Given the description of an element on the screen output the (x, y) to click on. 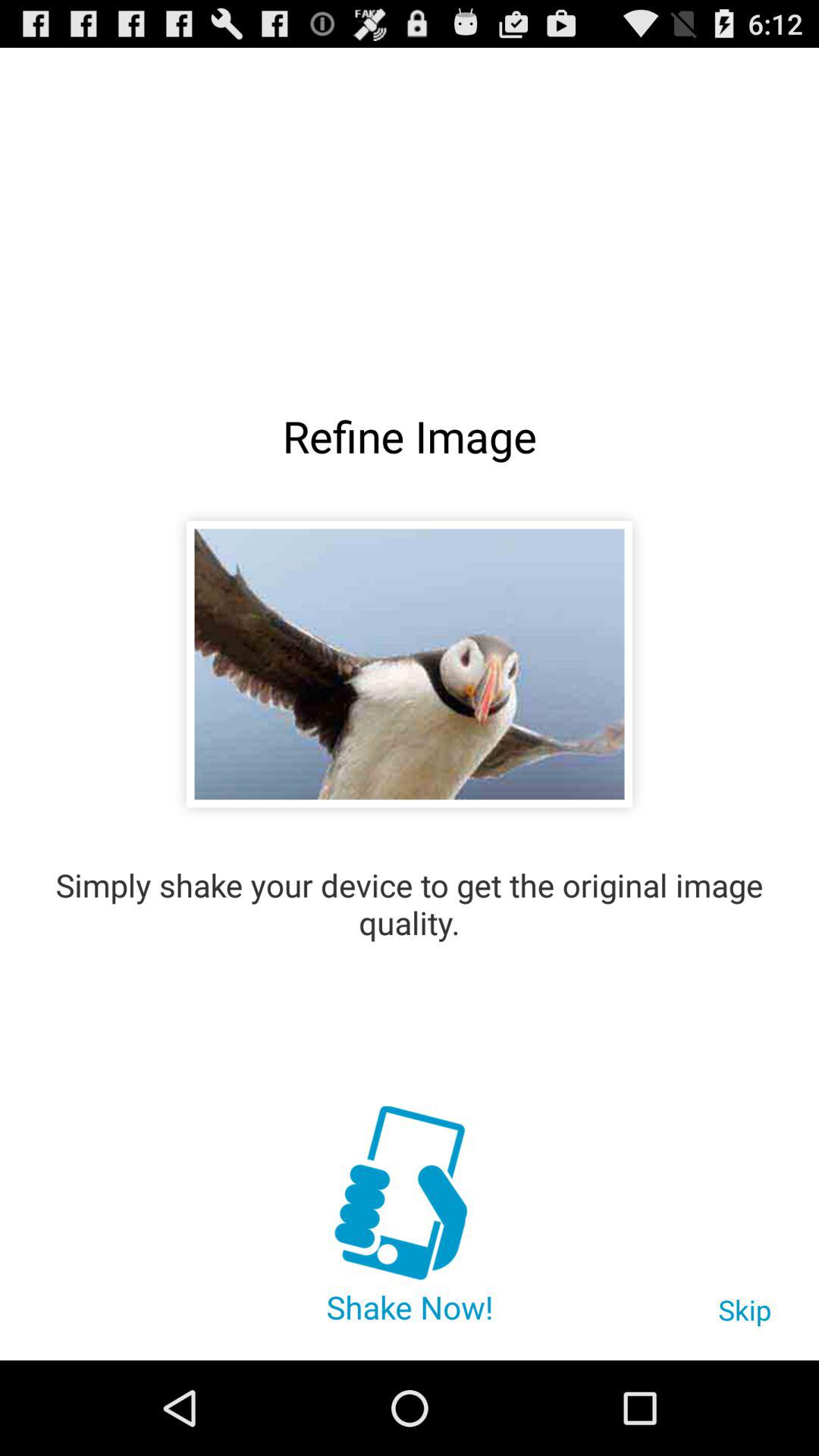
tap item above the shake now! icon (408, 1195)
